Given the description of an element on the screen output the (x, y) to click on. 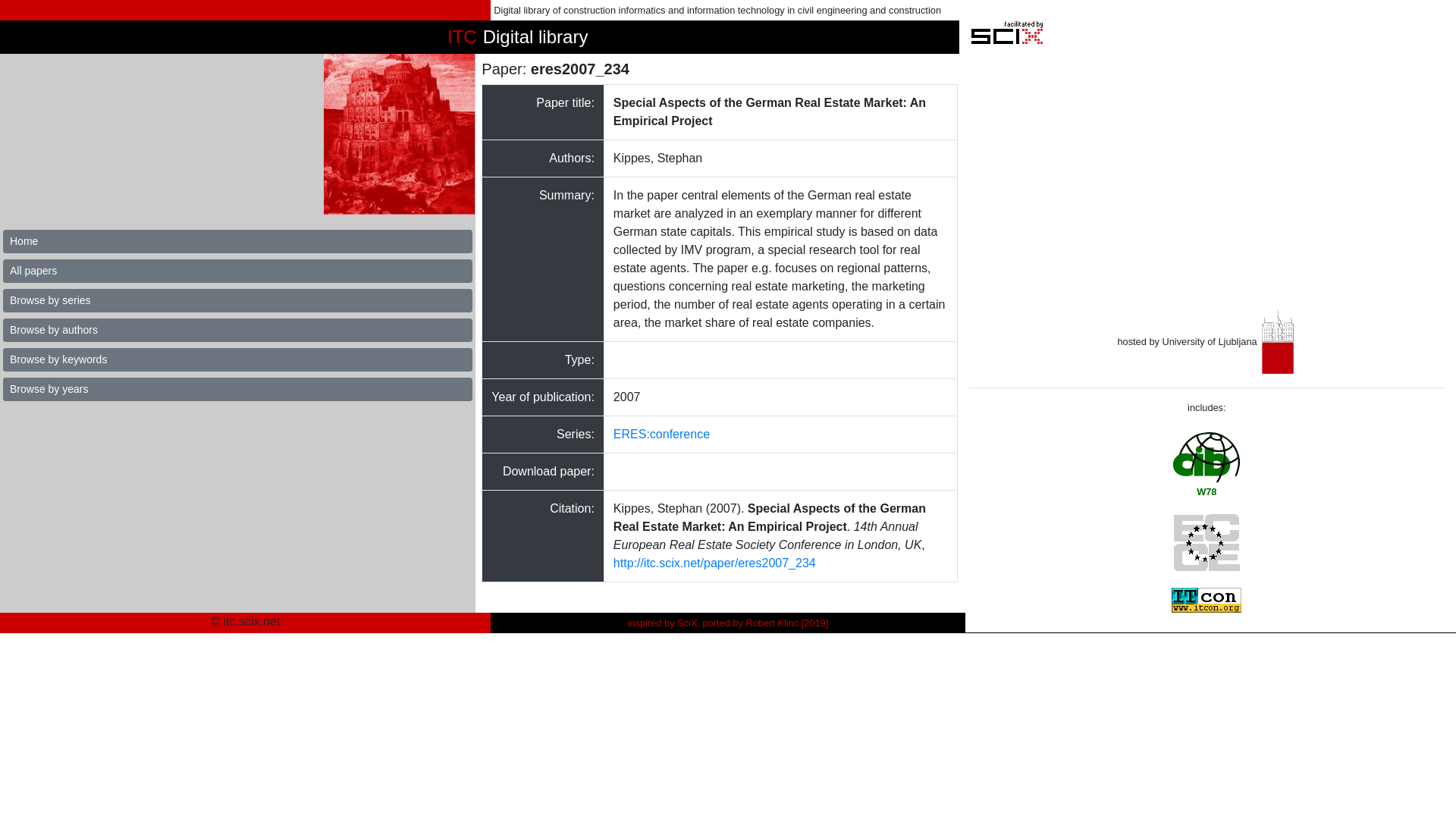
Browse by keywords (236, 359)
Browse by years (236, 389)
Home (236, 241)
All papers (236, 270)
ERES:conference (661, 433)
Browse by authors (236, 330)
Browse by series (236, 300)
